Given the description of an element on the screen output the (x, y) to click on. 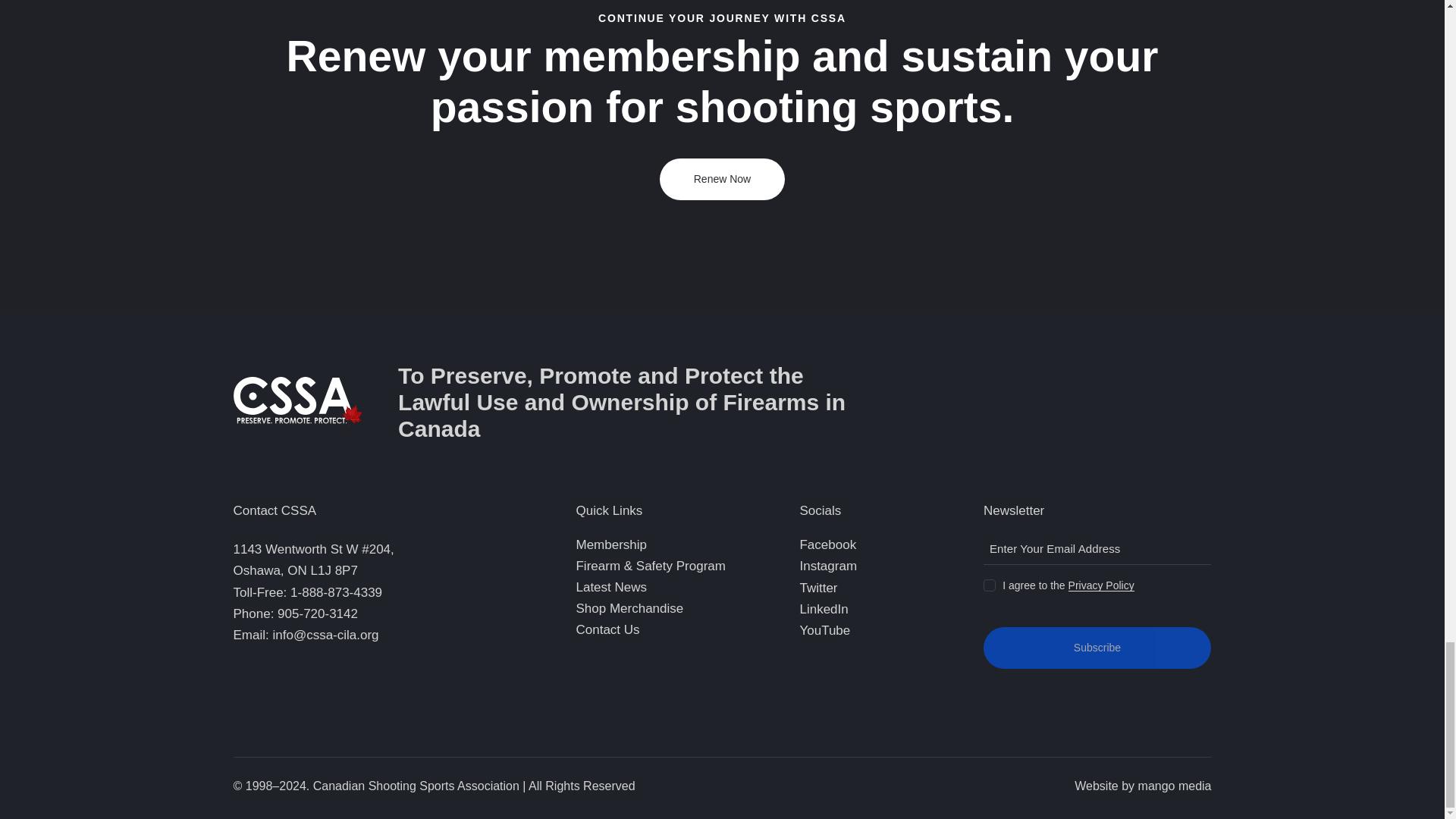
1 (988, 582)
Subscribe (1097, 648)
